Given the description of an element on the screen output the (x, y) to click on. 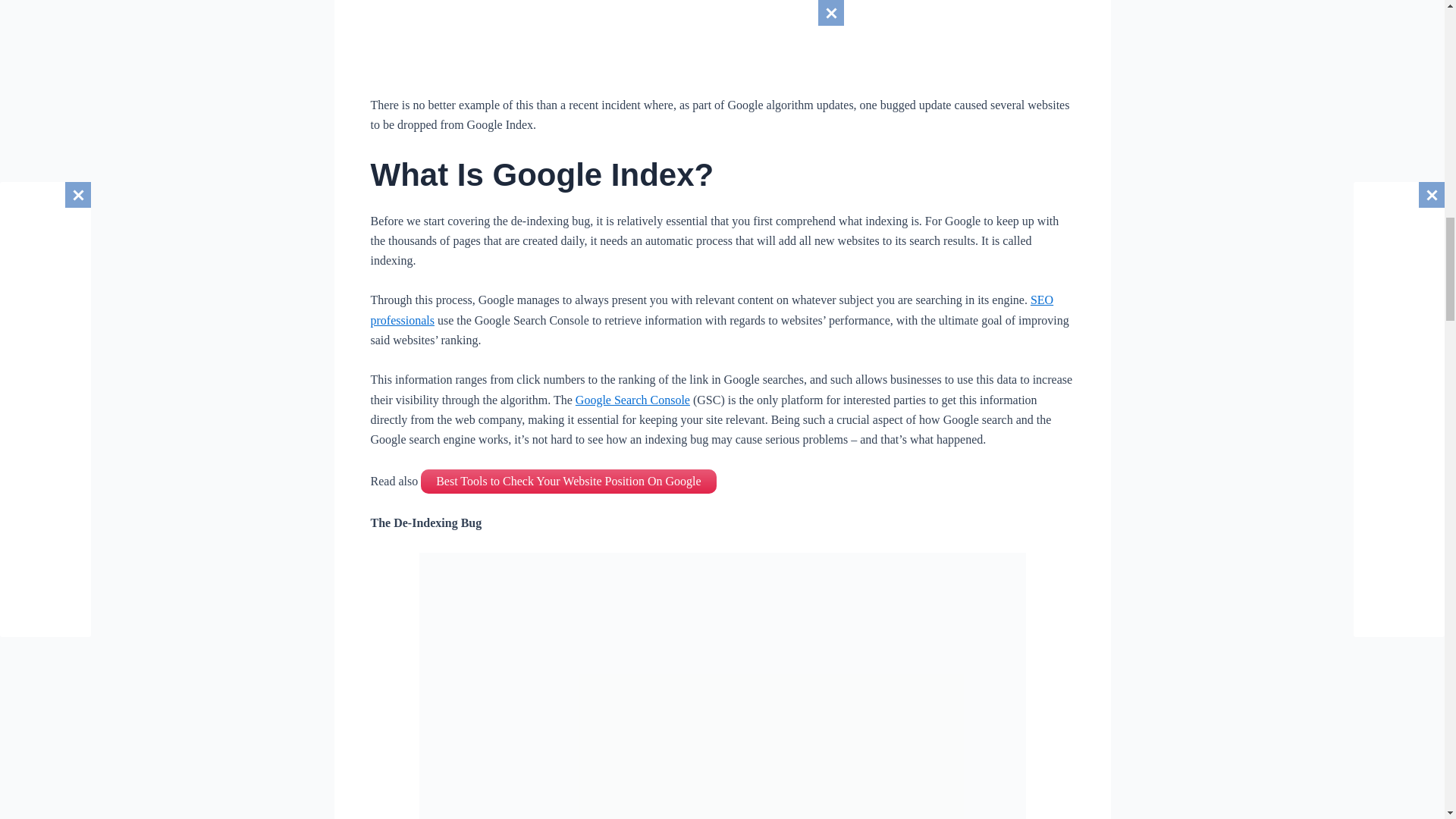
Google Search Console (632, 399)
Best Tools to Check Your Website Position On Google (568, 481)
SEO professionals (710, 309)
